Given the description of an element on the screen output the (x, y) to click on. 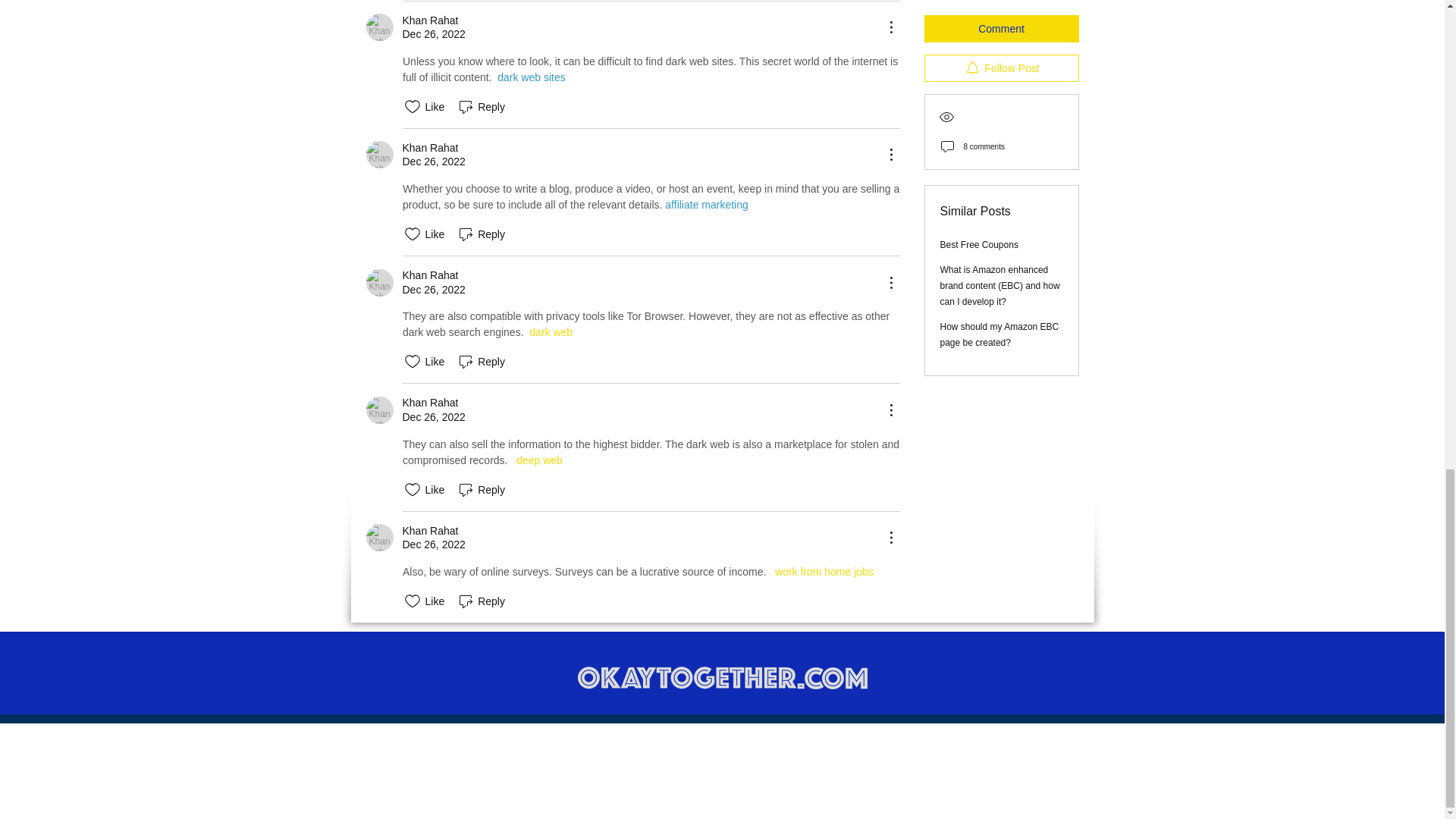
Khan Rahat (379, 282)
Khan Rahat (379, 26)
Khan Rahat (379, 410)
Khan Rahat (379, 154)
Khan Rahat (379, 537)
